Given the description of an element on the screen output the (x, y) to click on. 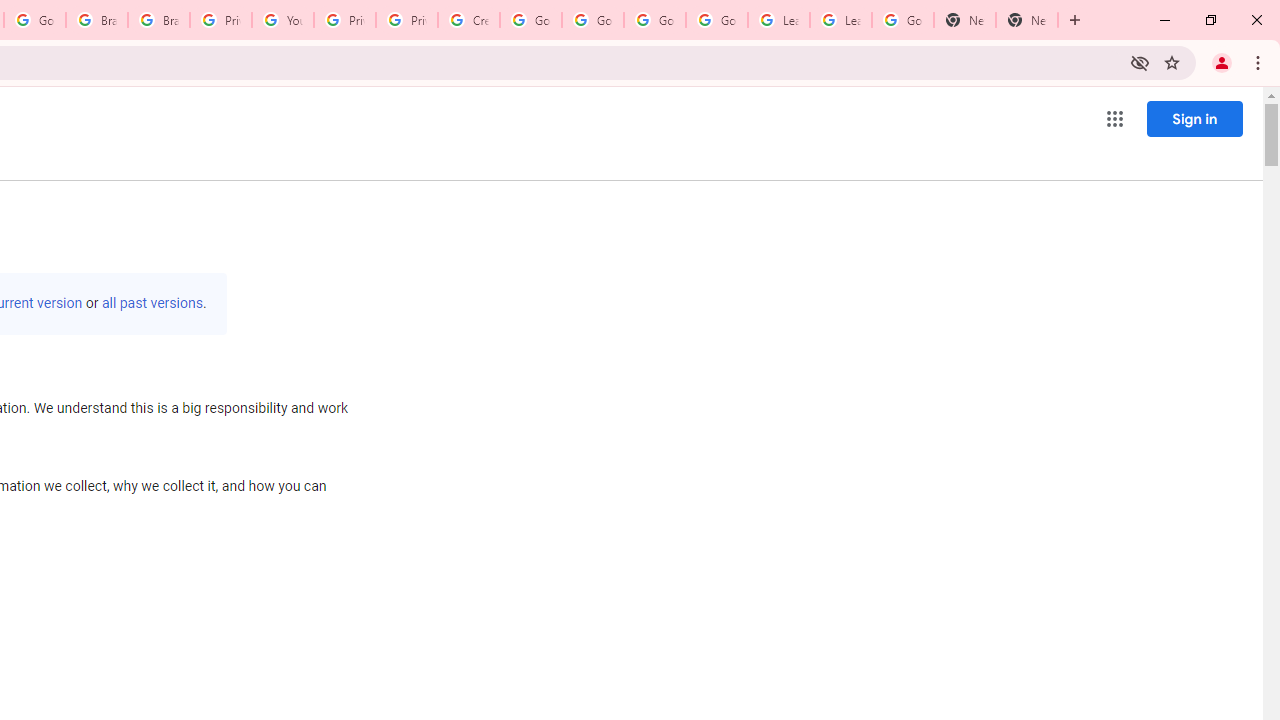
YouTube (282, 20)
all past versions (152, 303)
Google Account Help (716, 20)
New Tab (964, 20)
Third-party cookies blocked (1139, 62)
Google Account Help (592, 20)
